Given the description of an element on the screen output the (x, y) to click on. 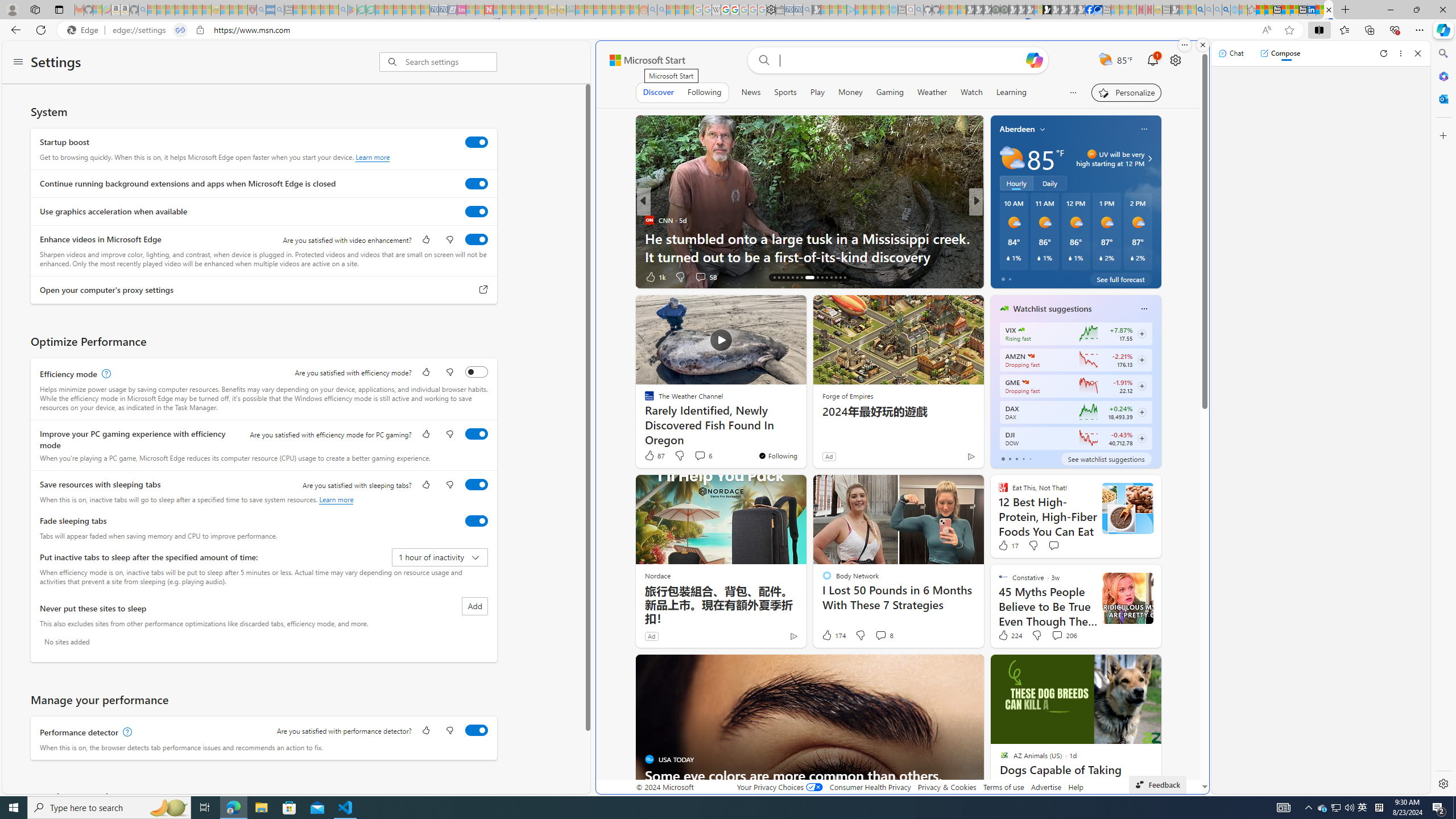
Partly sunny (1011, 158)
Play (817, 92)
View comments 8 Comment (884, 634)
Start the conversation (1053, 545)
AutomationID: tab-19 (787, 277)
AutomationID: tab-20 (792, 277)
Learn more (335, 499)
Open Copilot (1034, 59)
Skip to footer (640, 59)
7 signs that someone likes you, according to a psychologist (463, 247)
utah sues federal government - Search - Sleeping (279, 9)
next (1155, 381)
AutomationID: tab-23 (806, 277)
